Given the description of an element on the screen output the (x, y) to click on. 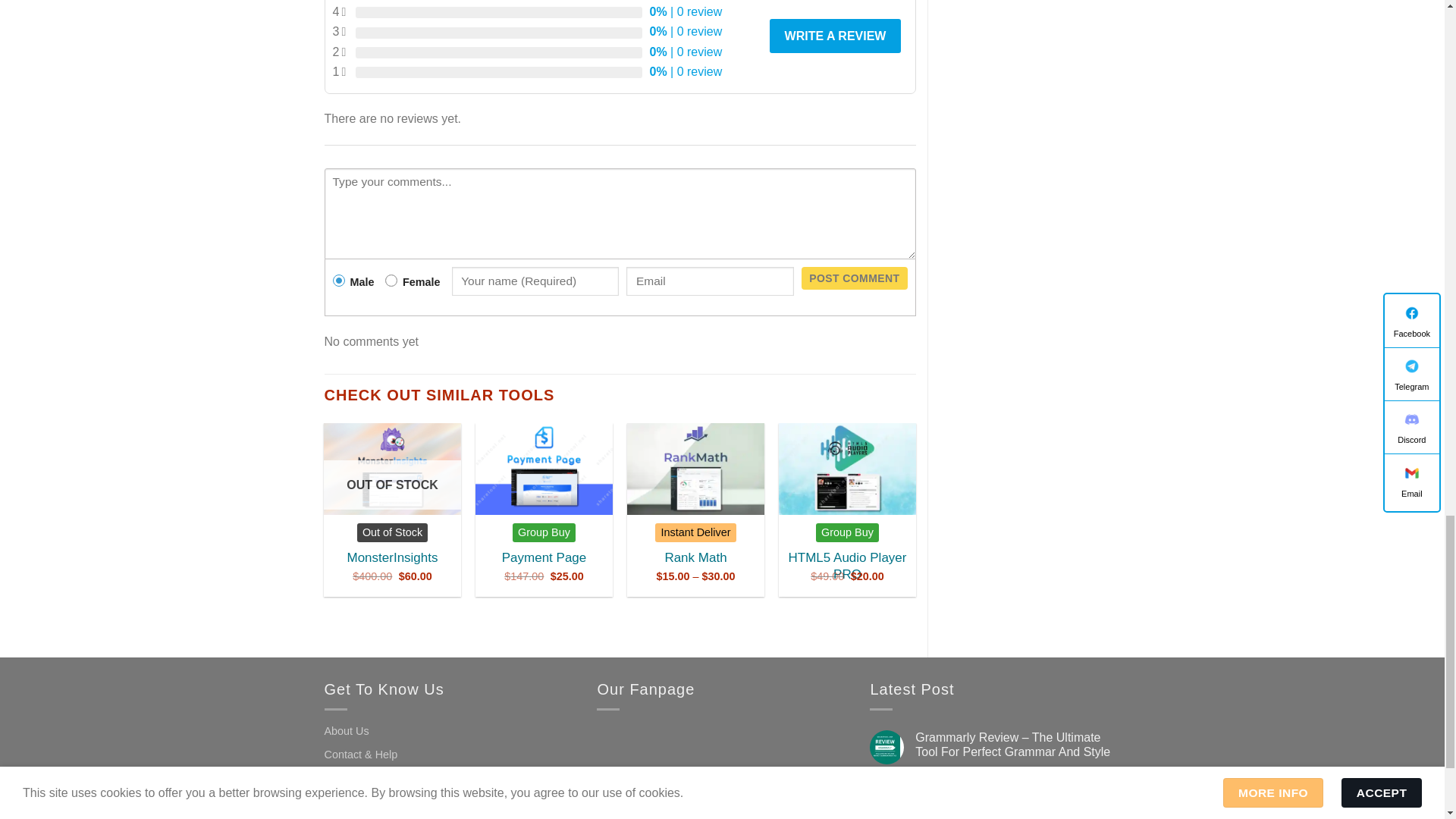
Write a review (835, 36)
